Given the description of an element on the screen output the (x, y) to click on. 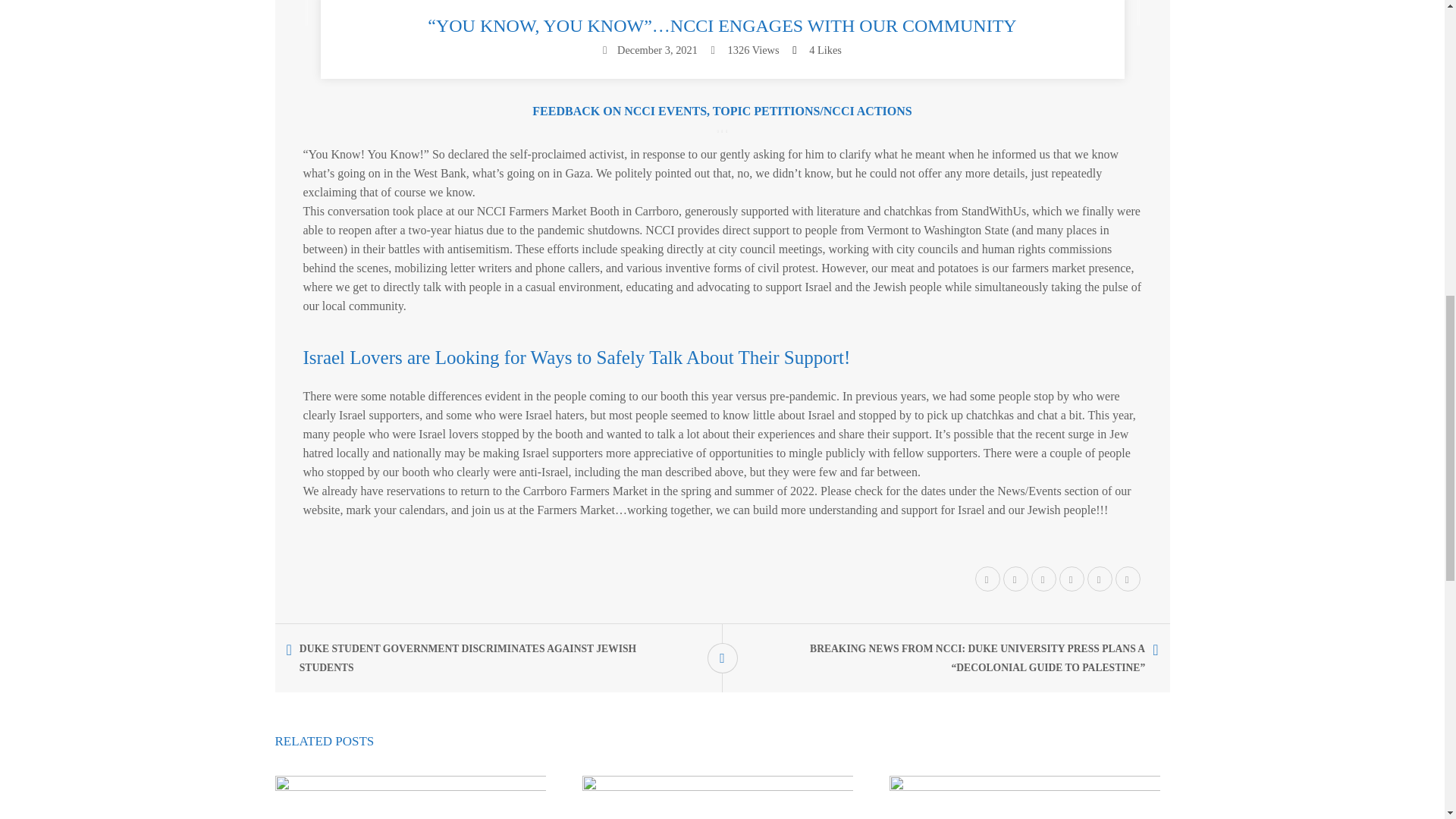
Share on LinkedIn (1098, 579)
Share on Pinterest (1071, 579)
Share on Twitter (986, 579)
FEEDBACK ON NCCI EVENTS (619, 110)
Share on Facebook (1015, 579)
Share on Tumblr (1128, 579)
View all posts in Feedback on NCCI Events (619, 110)
